Given the description of an element on the screen output the (x, y) to click on. 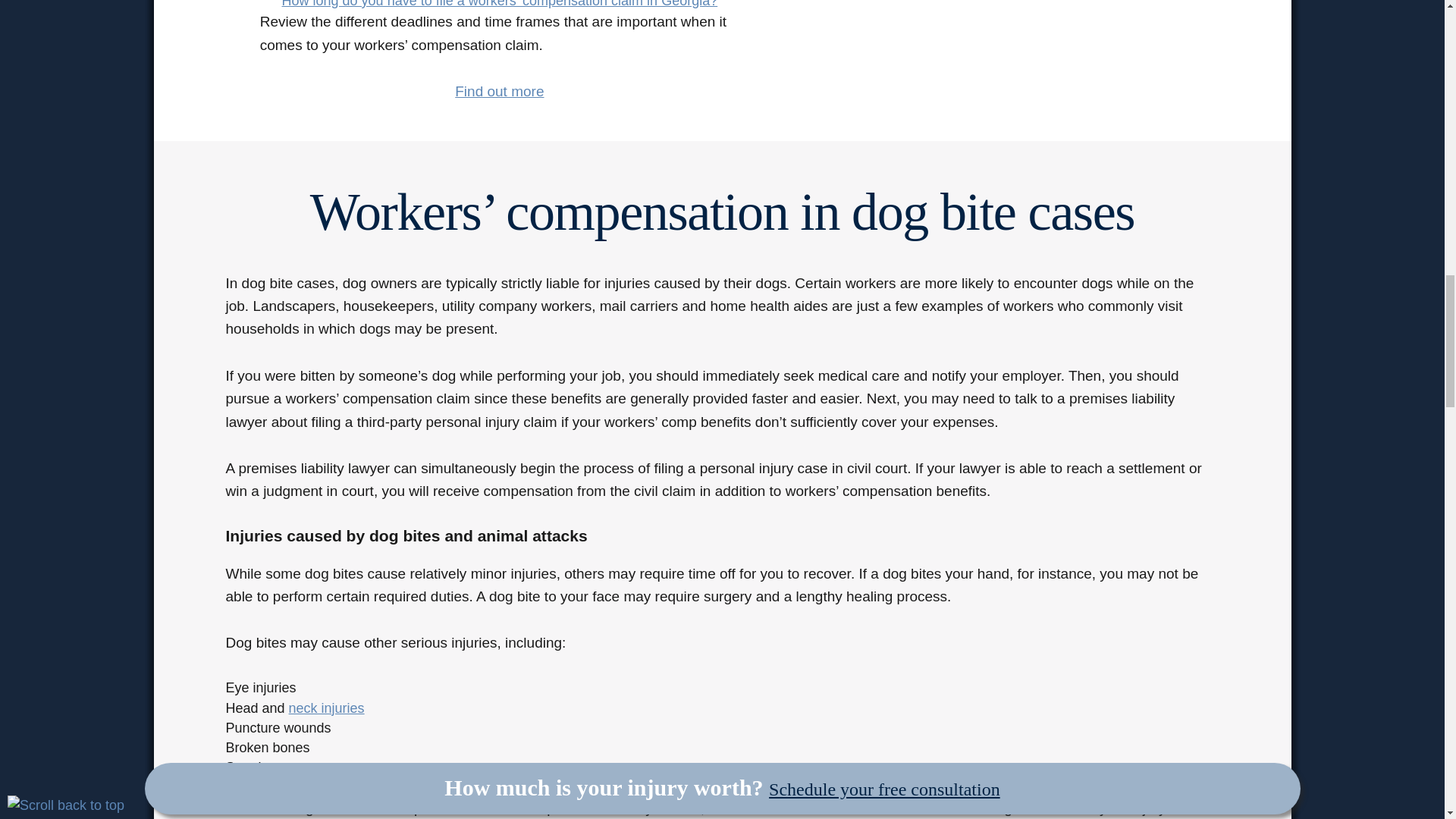
neck injuries (326, 708)
Find out more (498, 91)
